Given the description of an element on the screen output the (x, y) to click on. 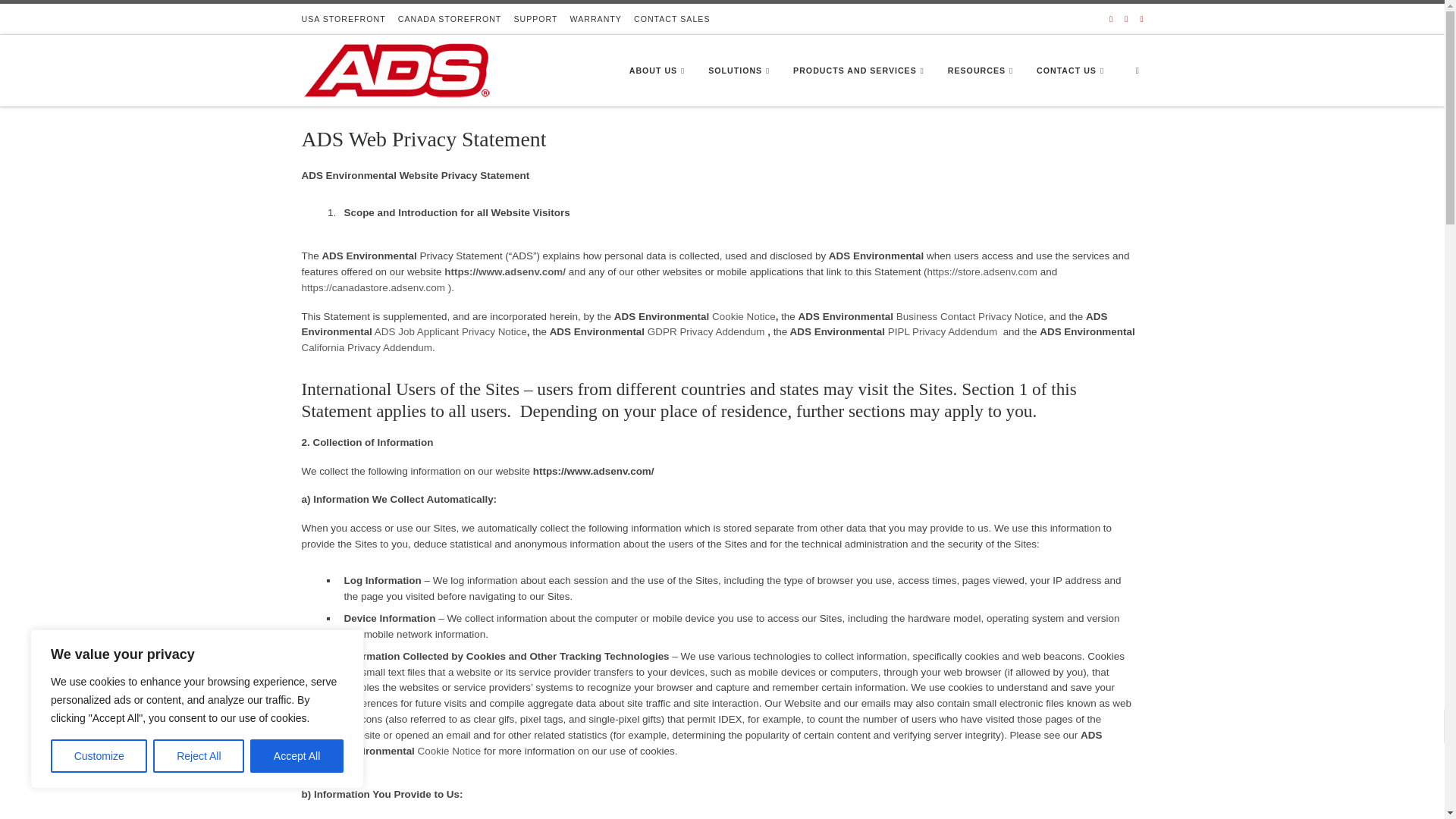
CONTACT SALES (671, 19)
Reject All (198, 756)
WARRANTY (595, 19)
ABOUT US (659, 70)
Accept All (296, 756)
Customize (98, 756)
PRODUCTS AND SERVICES (861, 70)
SUPPORT (535, 19)
CANADA STOREFRONT (449, 19)
Skip to content (50, 18)
USA STOREFRONT (343, 19)
SOLUTIONS (740, 70)
